Given the description of an element on the screen output the (x, y) to click on. 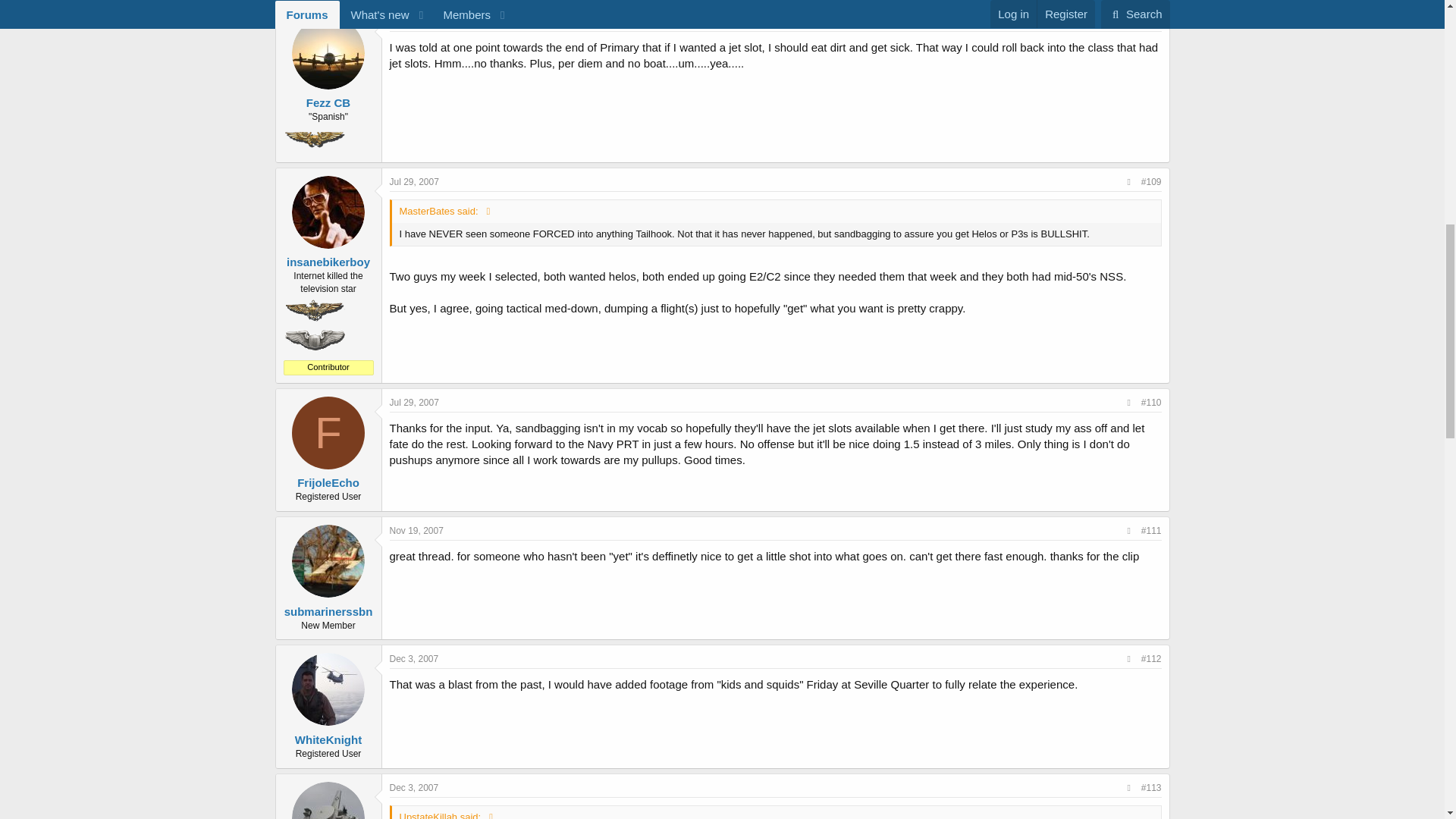
Nov 19, 2007 at 3:36 PM (417, 530)
Jul 29, 2007 at 11:06 PM (414, 402)
Dec 3, 2007 at 12:40 PM (414, 787)
Jul 29, 2007 at 7:33 PM (414, 181)
Dec 3, 2007 at 5:36 AM (414, 658)
Jul 29, 2007 at 7:26 PM (414, 22)
